Given the description of an element on the screen output the (x, y) to click on. 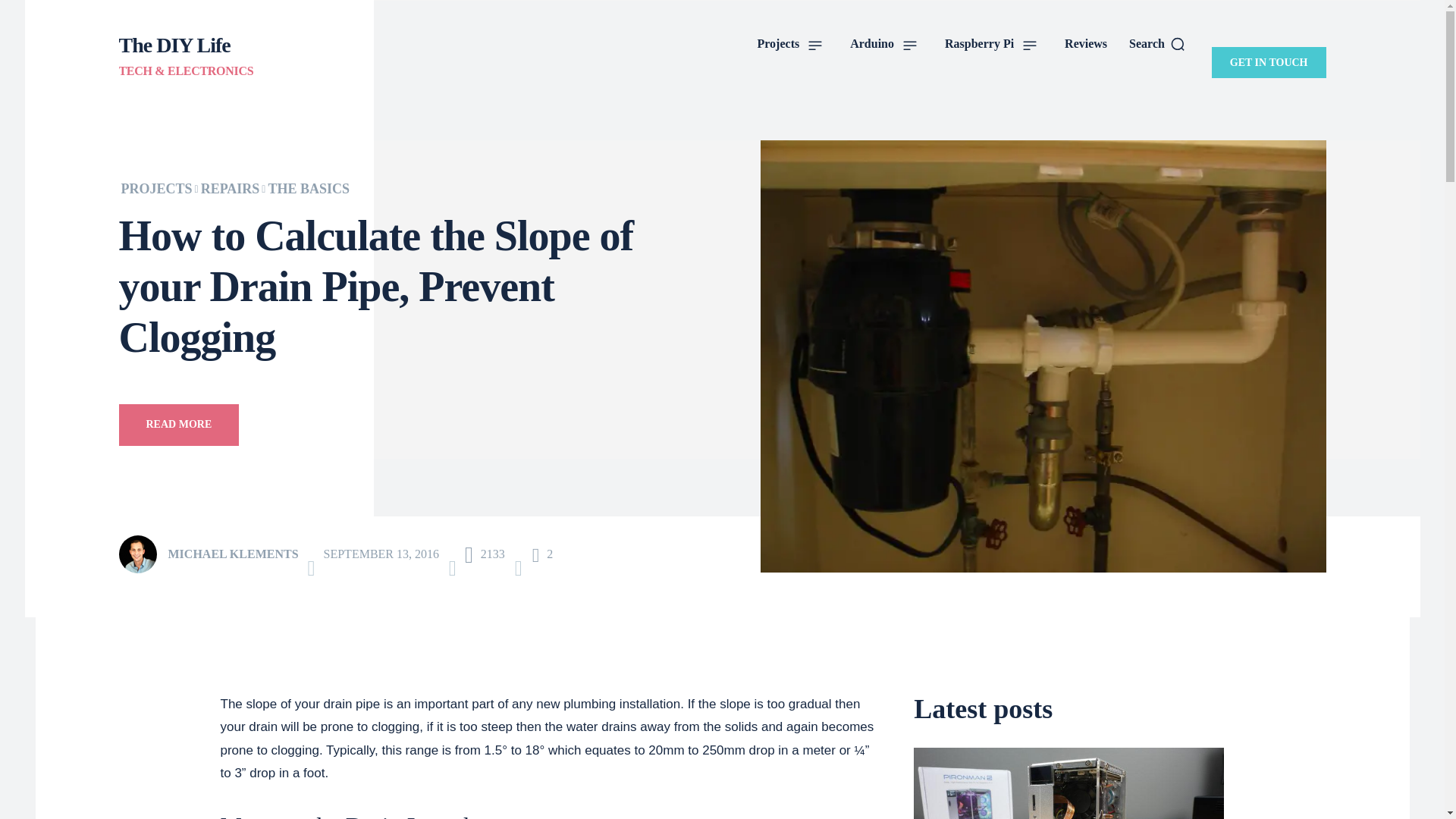
PROJECTS (156, 188)
Tech and Electronics (185, 53)
Reviews (1085, 43)
Michael Klements (141, 554)
Read More (177, 424)
Arduino (883, 43)
GET IN TOUCH (1268, 61)
THE BASICS (308, 188)
Get in Touch (1268, 61)
REPAIRS (230, 188)
Raspberry Pi (991, 43)
Search (1157, 44)
READ MORE (177, 424)
Projects (791, 43)
